Given the description of an element on the screen output the (x, y) to click on. 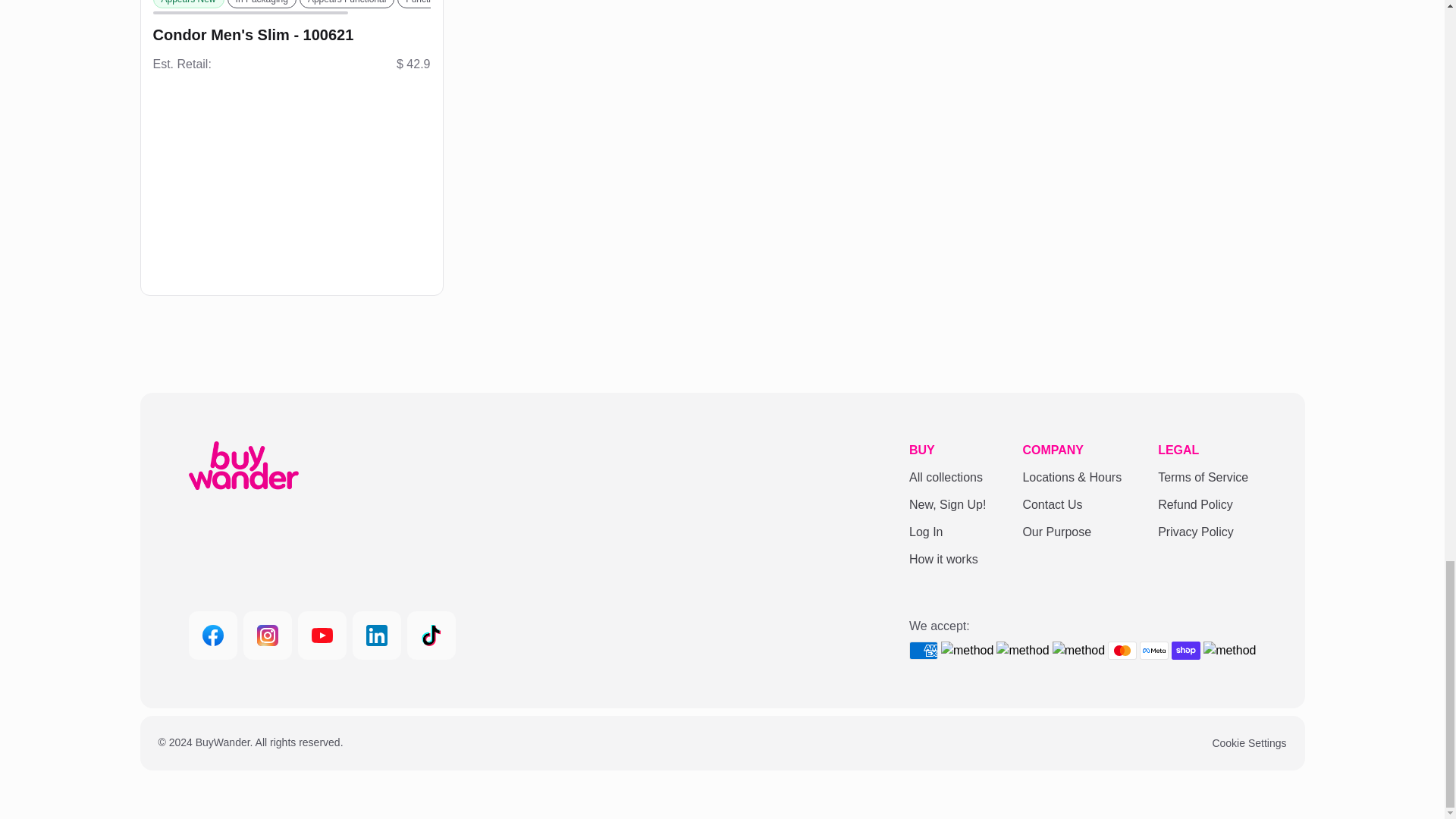
Privacy Policy (1202, 532)
Terms of Service (1202, 477)
Tiktok (430, 635)
Contact Us (1071, 505)
How it works (946, 559)
YouTube (321, 635)
Instagram (267, 635)
Refund Policy (1202, 505)
New, Sign Up! (946, 505)
Log In (946, 532)
All collections (946, 477)
LinkedIn (376, 635)
Condor Men's Slim - 100621 (291, 34)
Our Purpose (1071, 532)
